Given the description of an element on the screen output the (x, y) to click on. 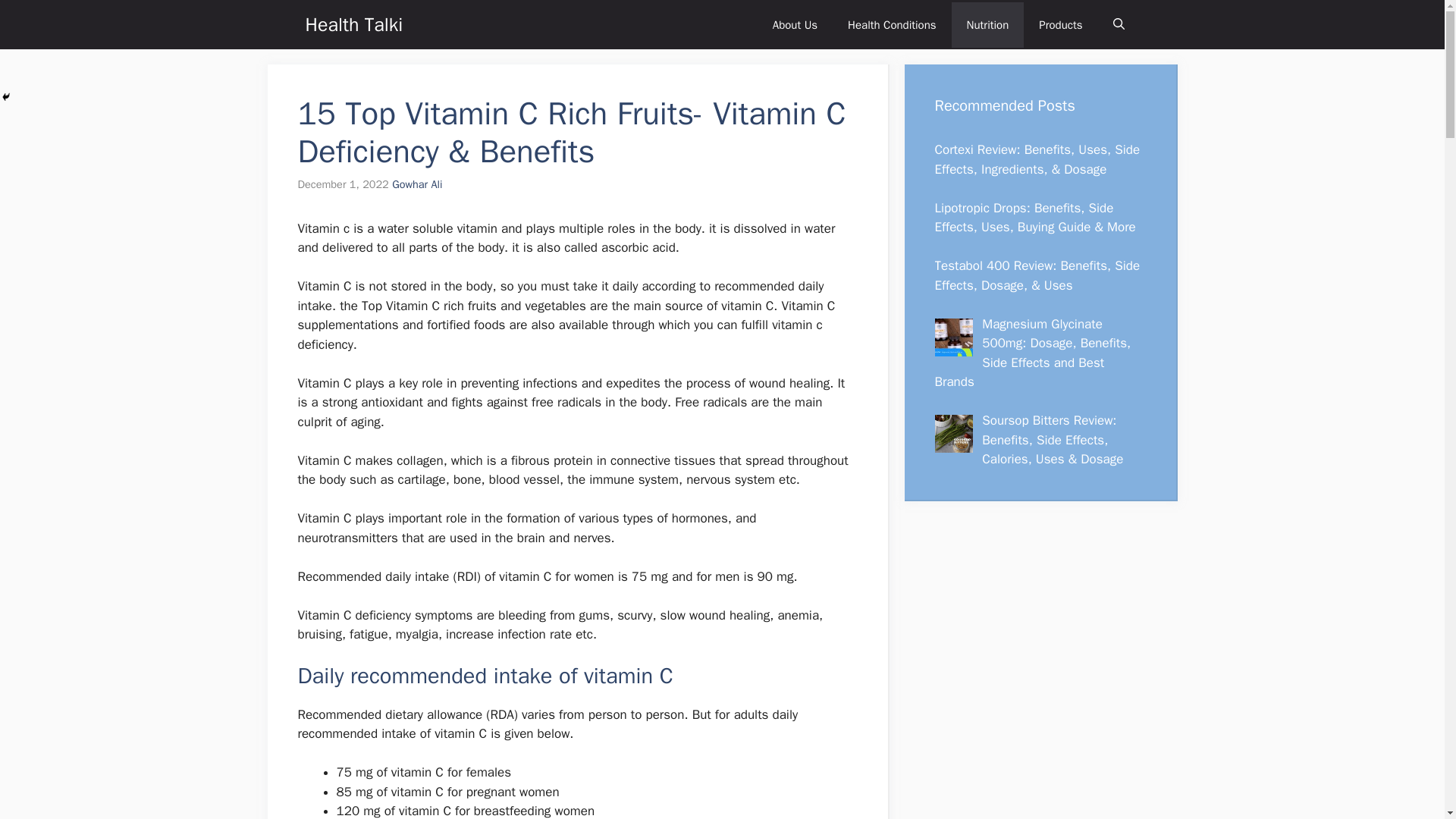
Health Conditions (892, 23)
Health Talki (353, 24)
Gowhar Ali (416, 183)
Gowhar Ali (416, 183)
Hide (5, 96)
About Us (794, 23)
Nutrition (988, 23)
Products (1060, 23)
